Given the description of an element on the screen output the (x, y) to click on. 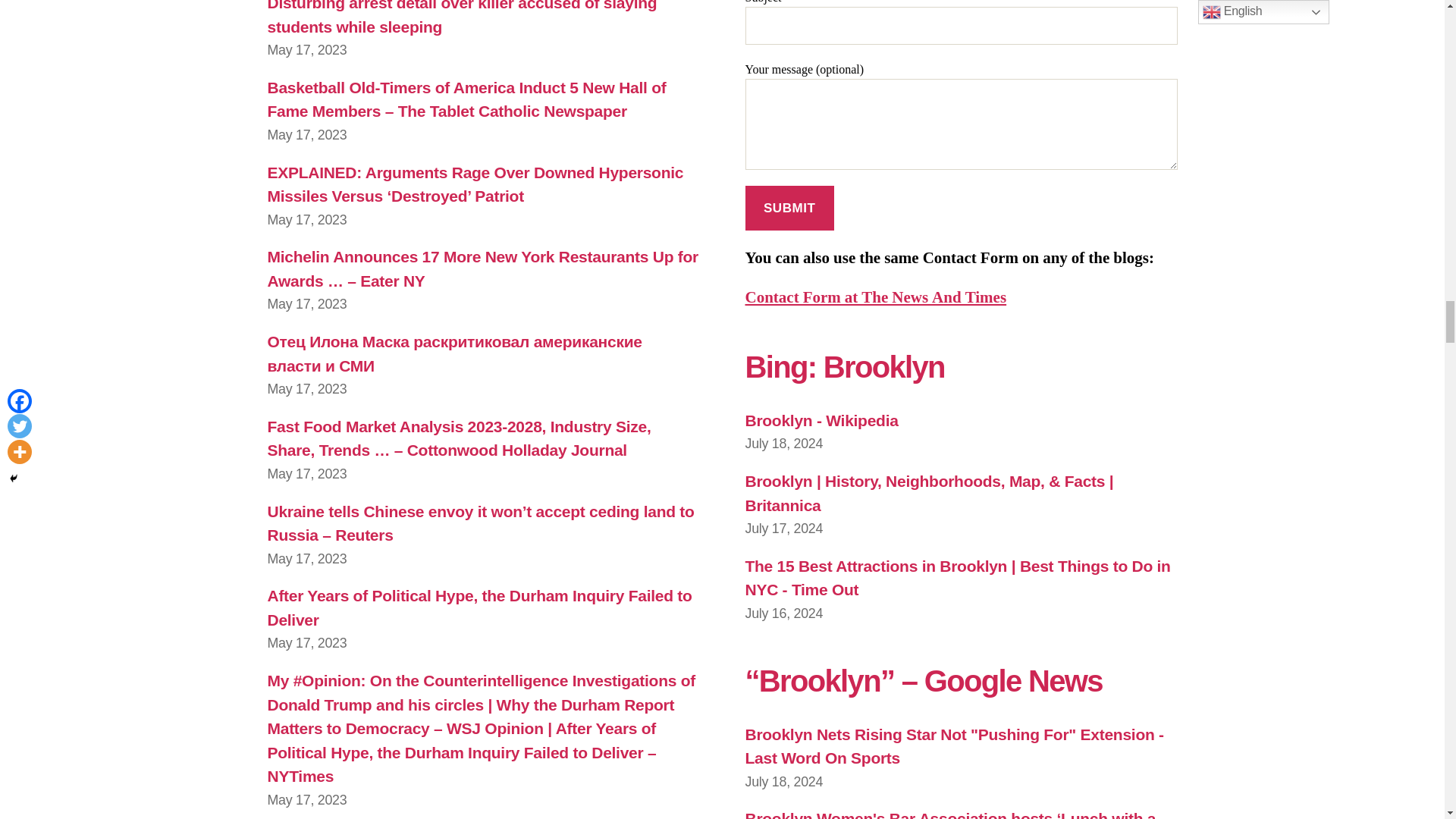
Submit (789, 207)
